Given the description of an element on the screen output the (x, y) to click on. 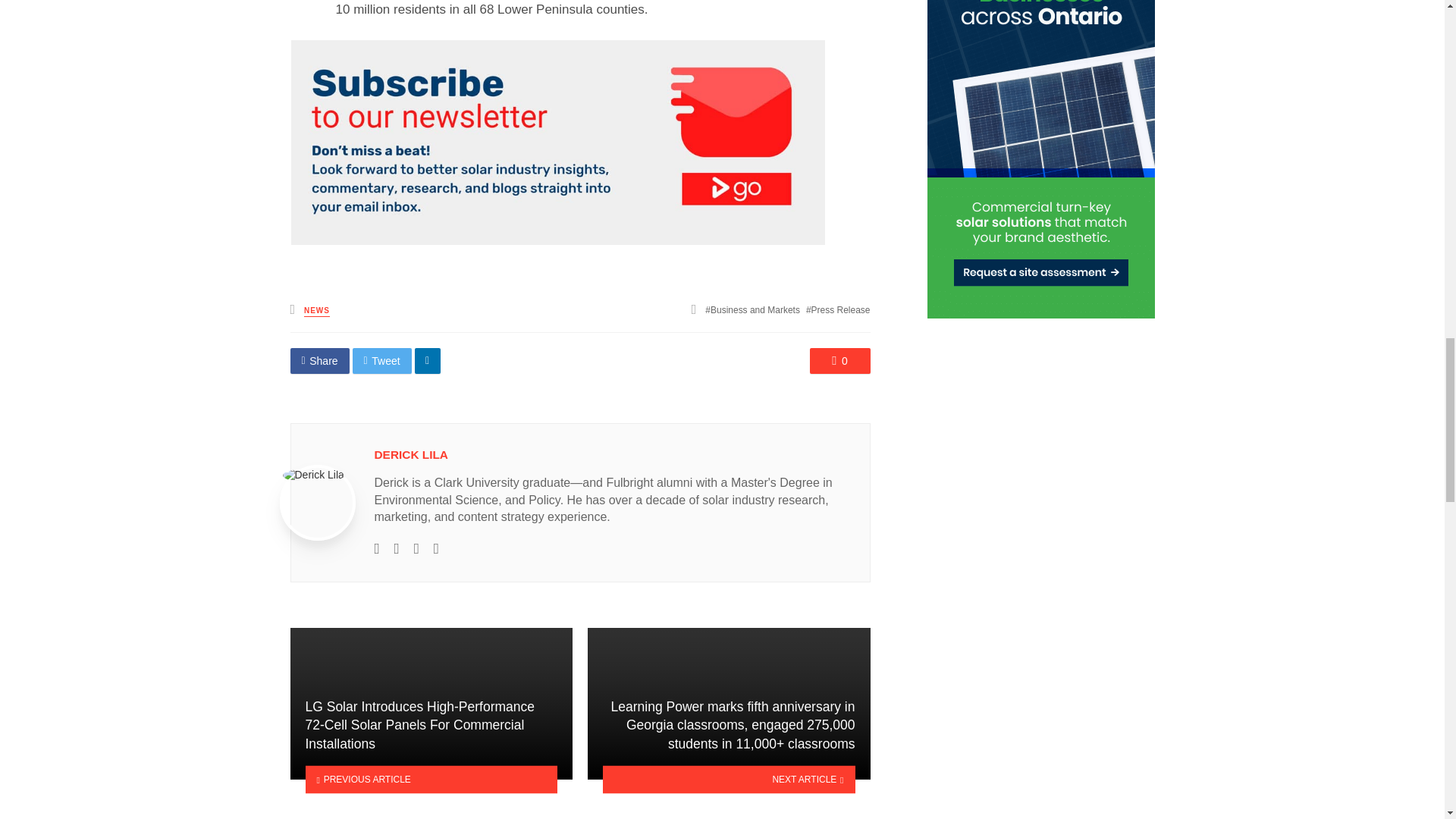
Posts by Derick Lila (411, 454)
Share on Facebook (319, 360)
0 Comments (839, 360)
Share on Linkedin (427, 360)
Share on Twitter (382, 360)
